Given the description of an element on the screen output the (x, y) to click on. 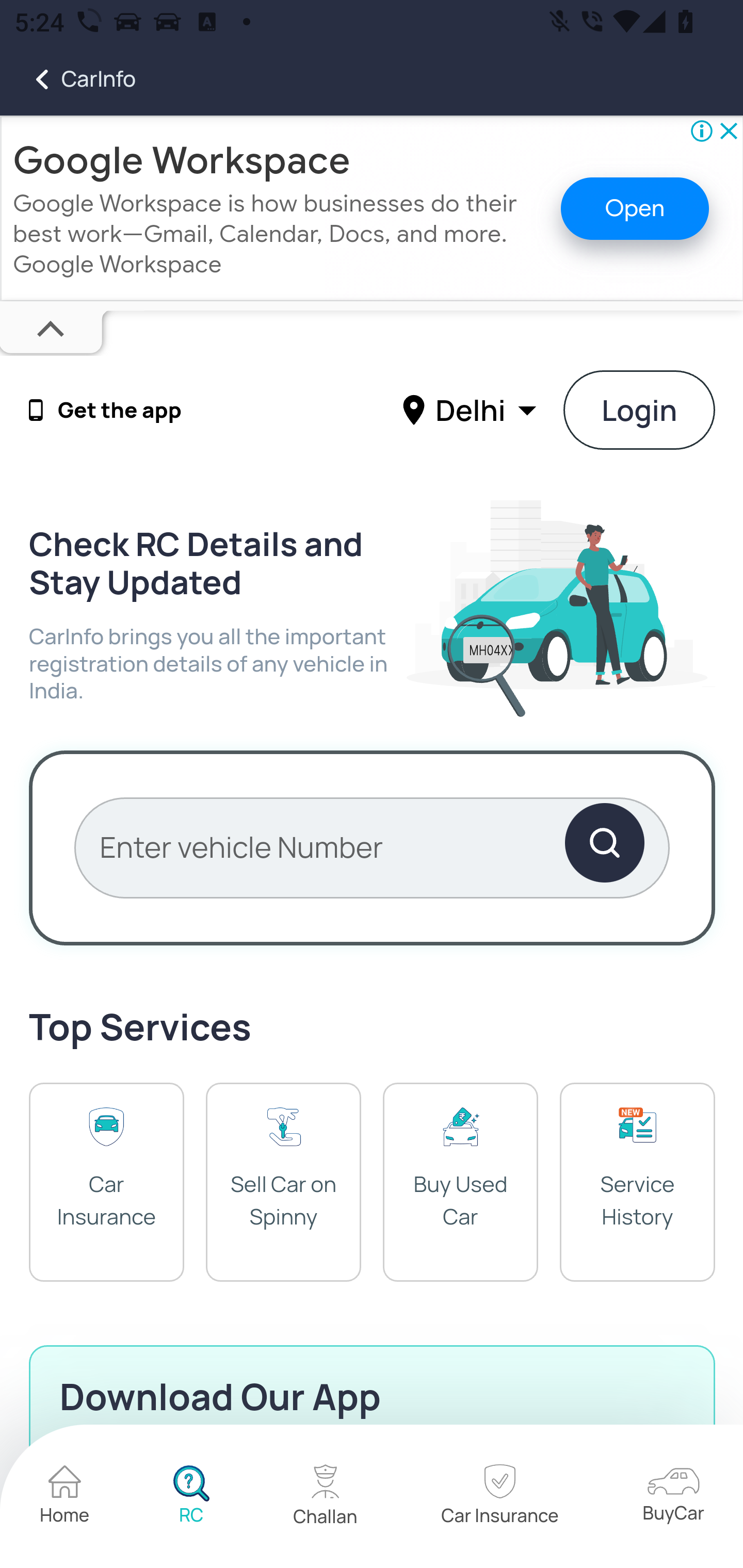
CarInfo (67, 79)
Google Workspace (182, 160)
Open (634, 208)
Login (639, 409)
Delhi (471, 408)
Get the app (119, 410)
search (603, 847)
topservices Buy Used Car topservices Buy Used Car (459, 1181)
home Challan home Challan (325, 1496)
home Home home Home (64, 1496)
home RC home RC (191, 1496)
home Car Insurance home Car Insurance (499, 1497)
home BuyCar home BuyCar (672, 1496)
